Given the description of an element on the screen output the (x, y) to click on. 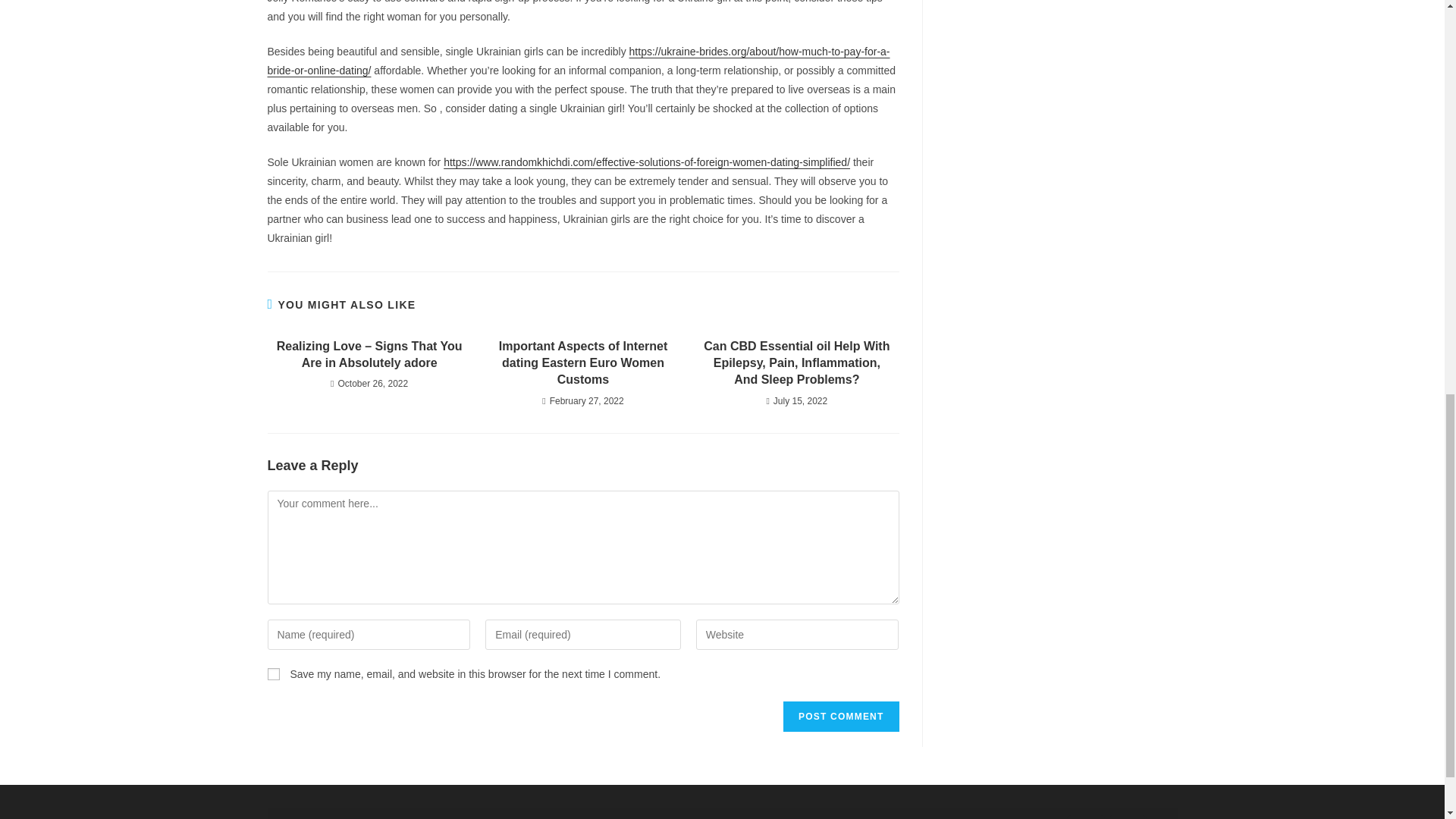
yes (272, 674)
Post Comment (840, 716)
Post Comment (840, 716)
